Given the description of an element on the screen output the (x, y) to click on. 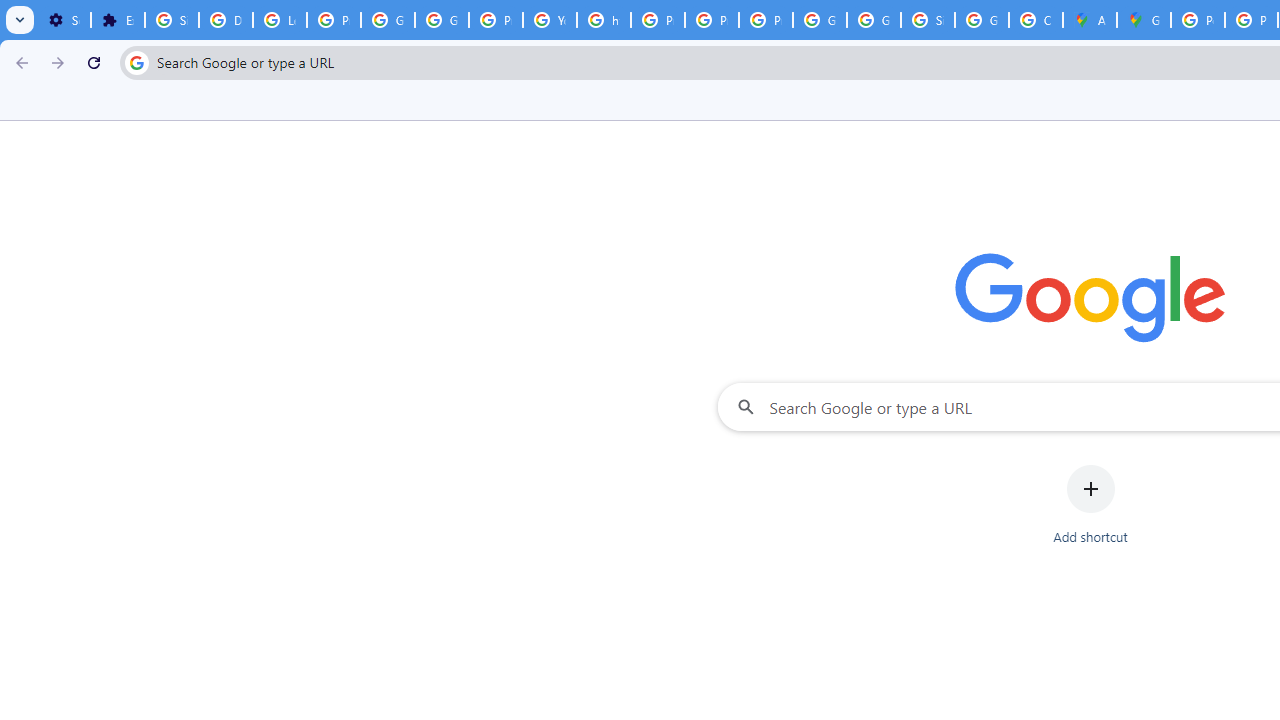
Delete photos & videos - Computer - Google Photos Help (225, 20)
https://scholar.google.com/ (604, 20)
Policy Accountability and Transparency - Transparency Center (1197, 20)
Sign in - Google Accounts (171, 20)
YouTube (550, 20)
Privacy Help Center - Policies Help (657, 20)
Sign in - Google Accounts (927, 20)
